Given the description of an element on the screen output the (x, y) to click on. 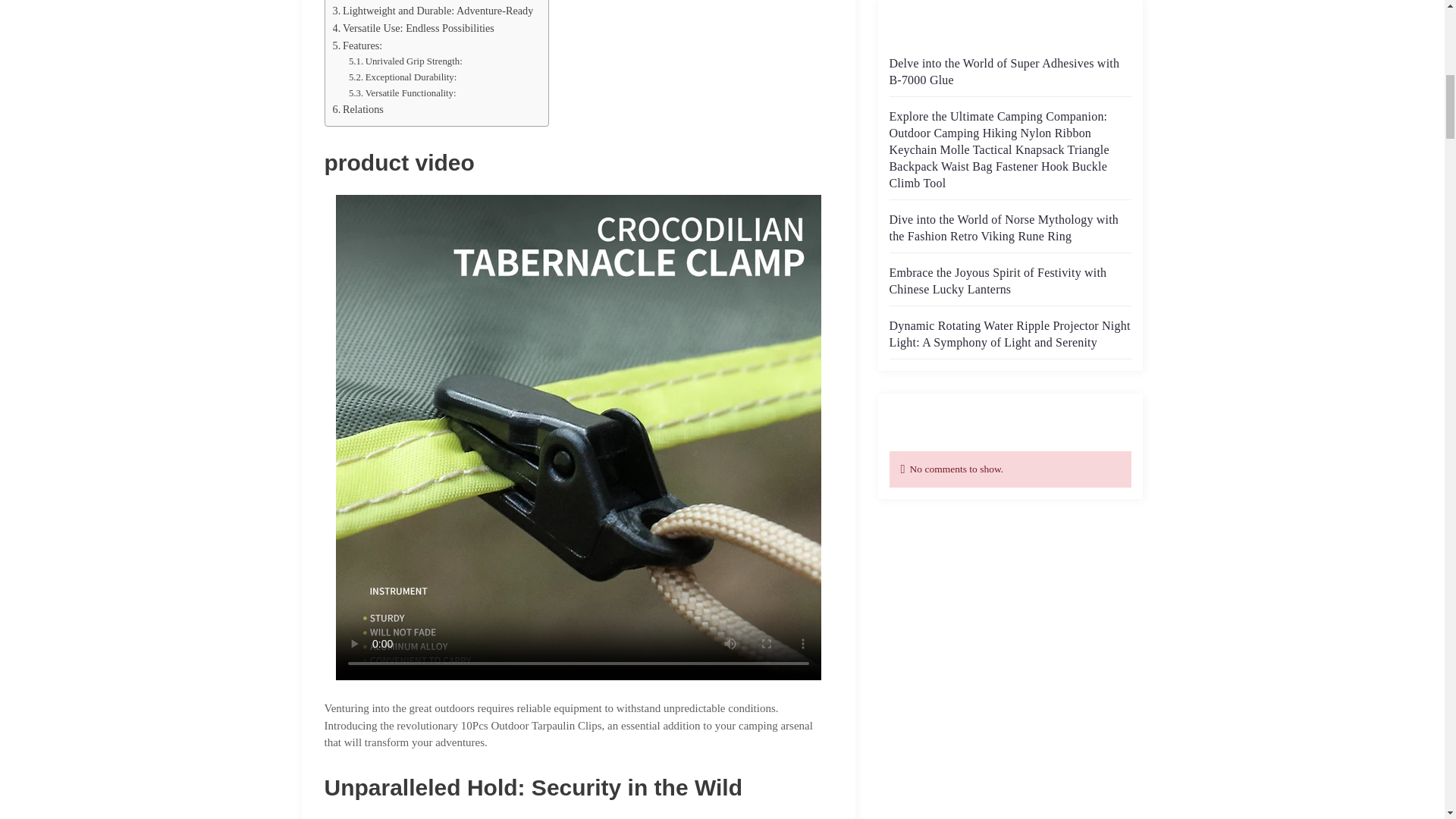
Features: (356, 45)
Lightweight and Durable: Adventure-Ready (431, 10)
Versatile Use: Endless Possibilities (412, 27)
Relations (356, 108)
Versatile Use: Endless Possibilities (412, 27)
Lightweight and Durable: Adventure-Ready (431, 10)
Unparalleled Hold: Security in the Wild (423, 1)
Versatile Functionality: (403, 93)
Features: (356, 45)
Exceptional Durability: (403, 77)
Unrivaled Grip Strength: (406, 61)
Versatile Functionality: (403, 93)
Exceptional Durability: (403, 77)
Relations (356, 108)
Unparalleled Hold: Security in the Wild (423, 1)
